Given the description of an element on the screen output the (x, y) to click on. 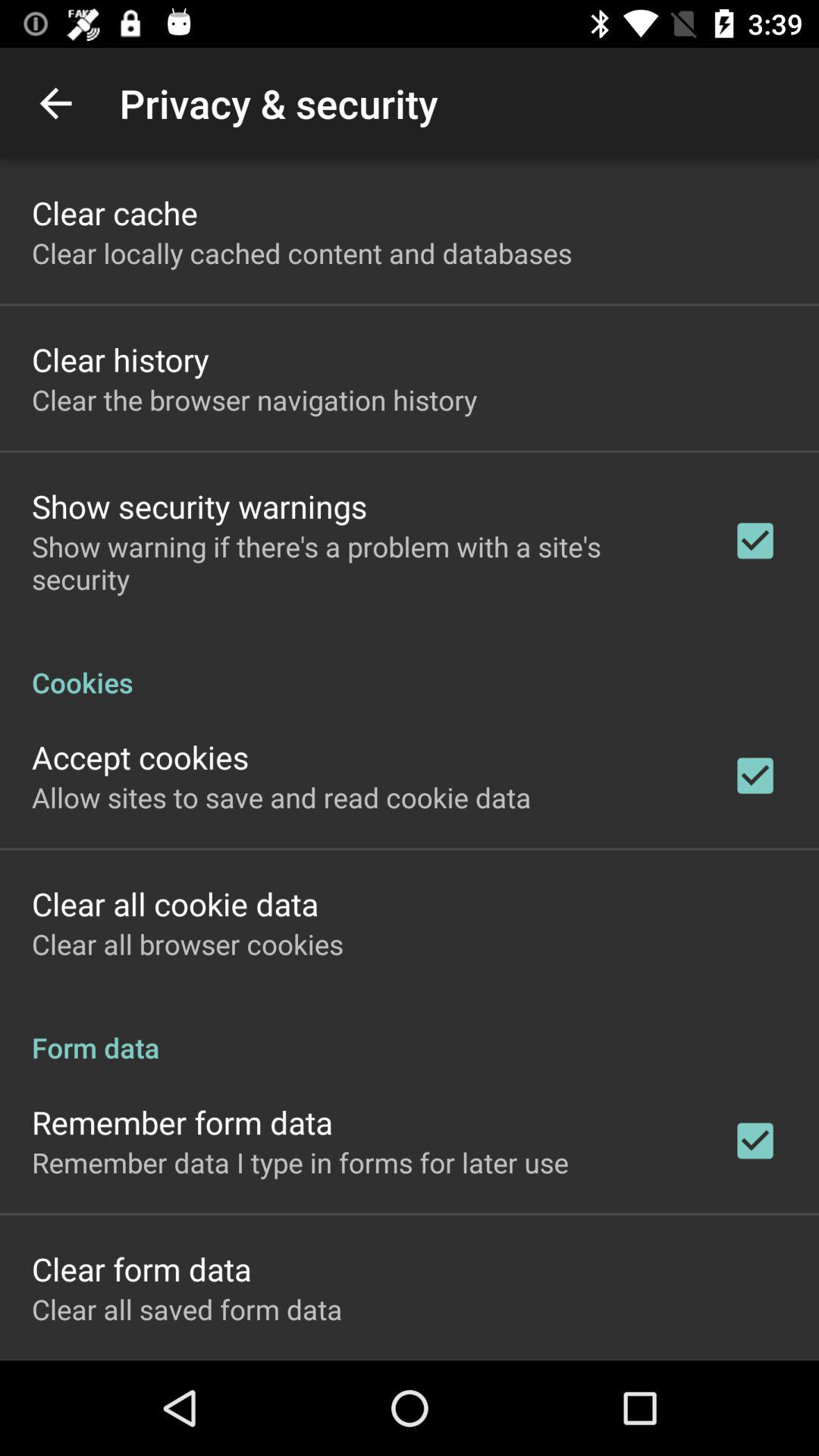
jump to accept cookies item (140, 756)
